Given the description of an element on the screen output the (x, y) to click on. 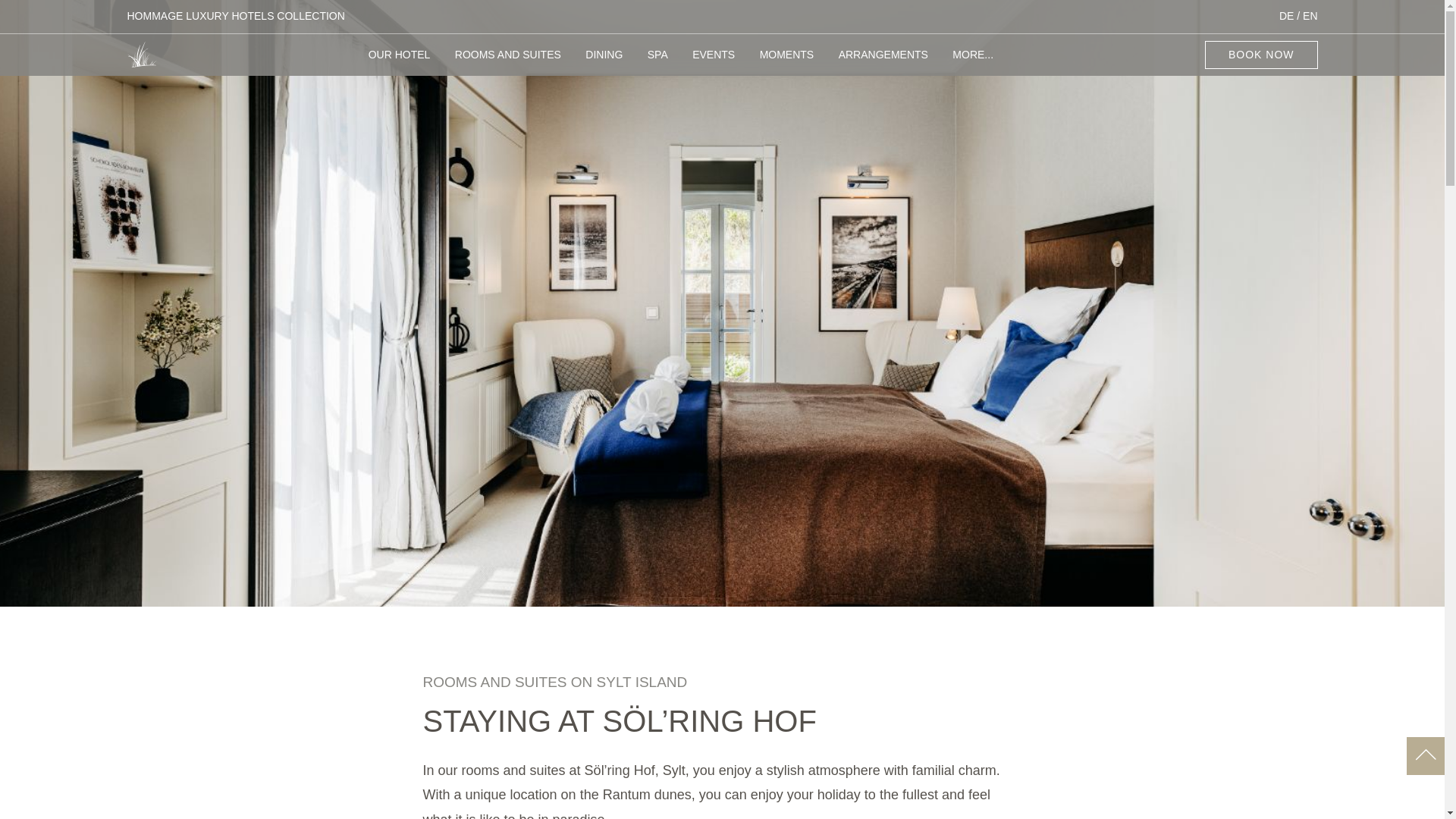
DE (1286, 15)
OUR HOTEL (399, 62)
ARRANGEMENTS (883, 62)
EN (1310, 15)
EVENTS (714, 62)
MORE... (972, 62)
MOMENTS (786, 62)
DINING (604, 62)
ROOMS AND SUITES (507, 62)
BOOK NOW (1261, 54)
